Given the description of an element on the screen output the (x, y) to click on. 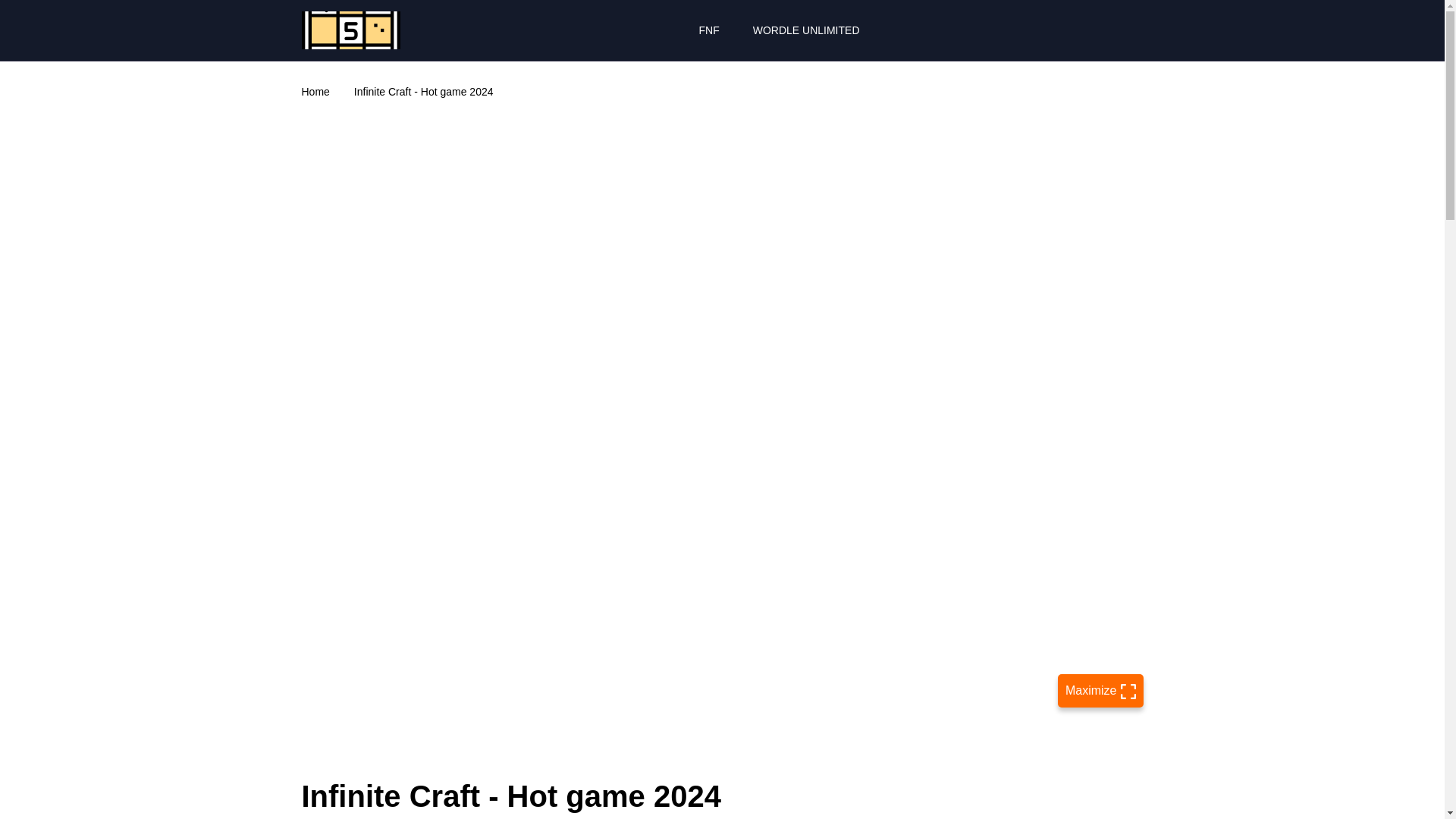
Play in fullscreen (1100, 690)
Home (315, 91)
WORDLE UNLIMITED (806, 30)
NYT Sudoku (350, 30)
Home (315, 91)
